Given the description of an element on the screen output the (x, y) to click on. 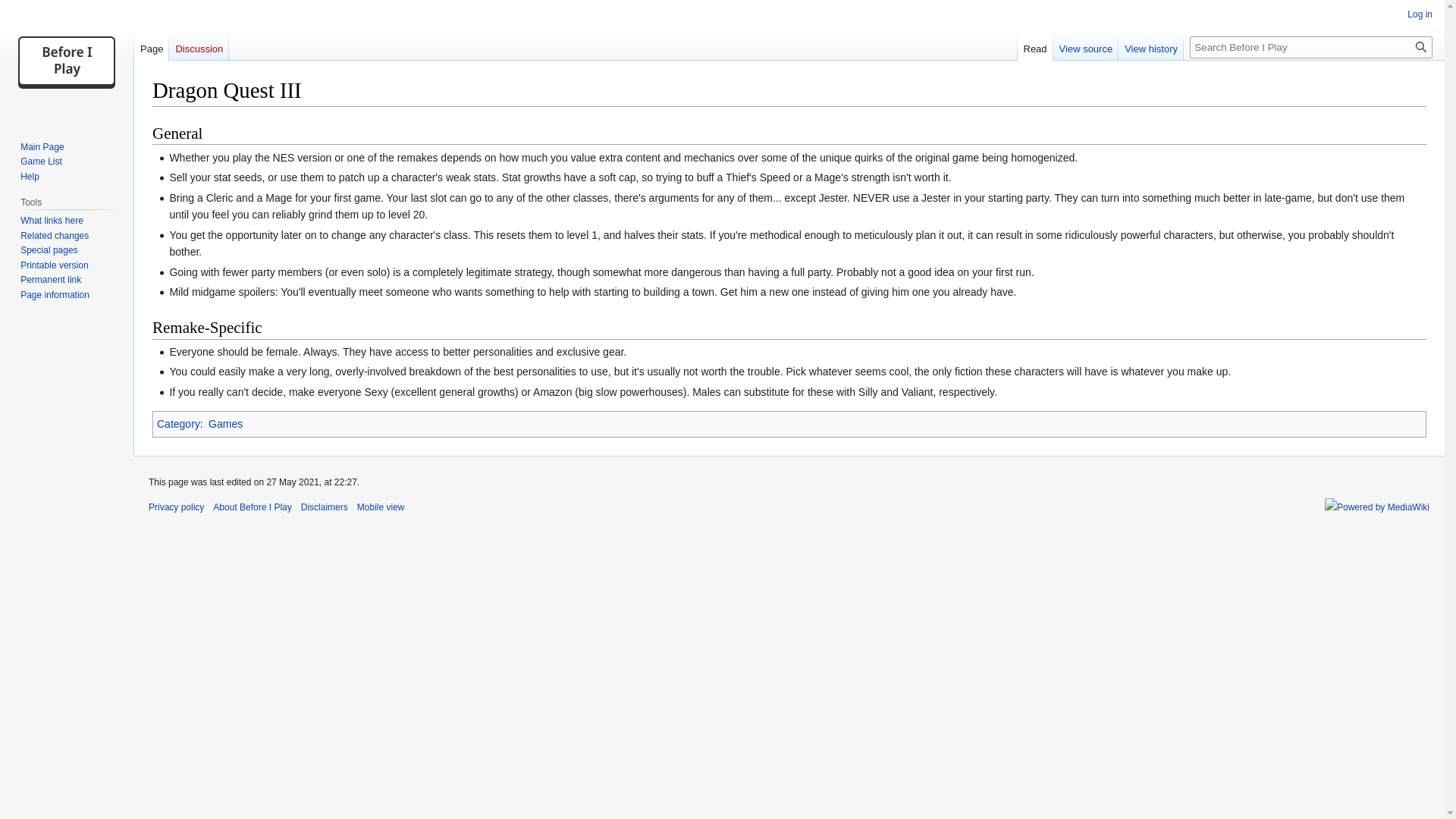
Search (1420, 46)
Page information (54, 294)
Discussion (198, 45)
View history (1150, 45)
Go (1420, 46)
Printable version (53, 265)
Permanent link to this revision of this page (50, 279)
Special:Categories (178, 423)
Disclaimers (324, 507)
Log in (1419, 14)
Category:Games (225, 423)
Privacy policy (175, 507)
Go (1420, 46)
Page (150, 45)
Mobile view (380, 507)
